Given the description of an element on the screen output the (x, y) to click on. 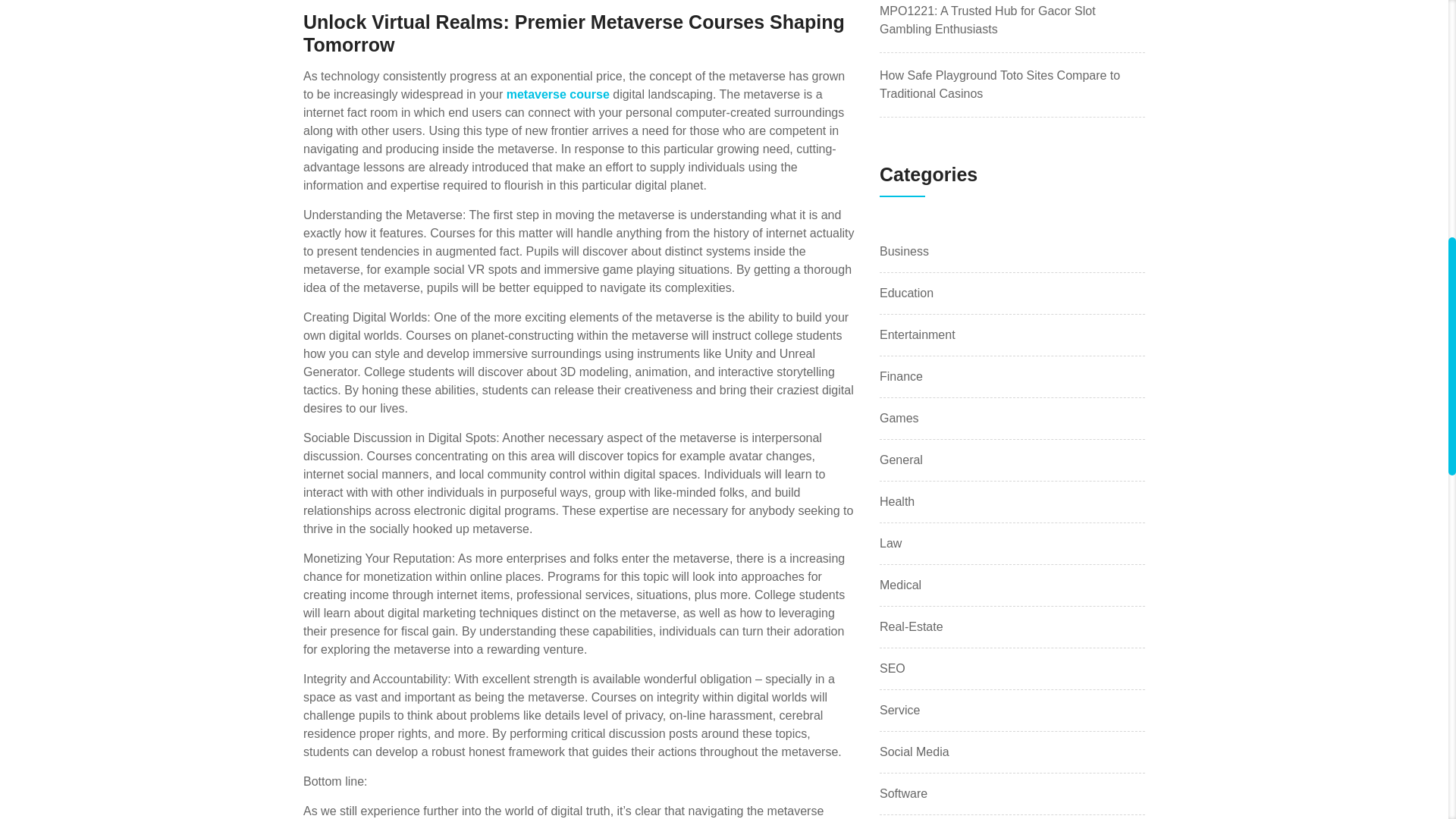
Medical (900, 585)
Social Media (914, 751)
General (901, 460)
Real-Estate (911, 627)
Service (899, 710)
Business (903, 251)
Games (898, 418)
Health (896, 502)
Education (906, 293)
MPO1221: A Trusted Hub for Gacor Slot Gambling Enthusiasts (987, 20)
SEO (892, 669)
Software (903, 793)
Entertainment (917, 334)
Law (890, 543)
